Given the description of an element on the screen output the (x, y) to click on. 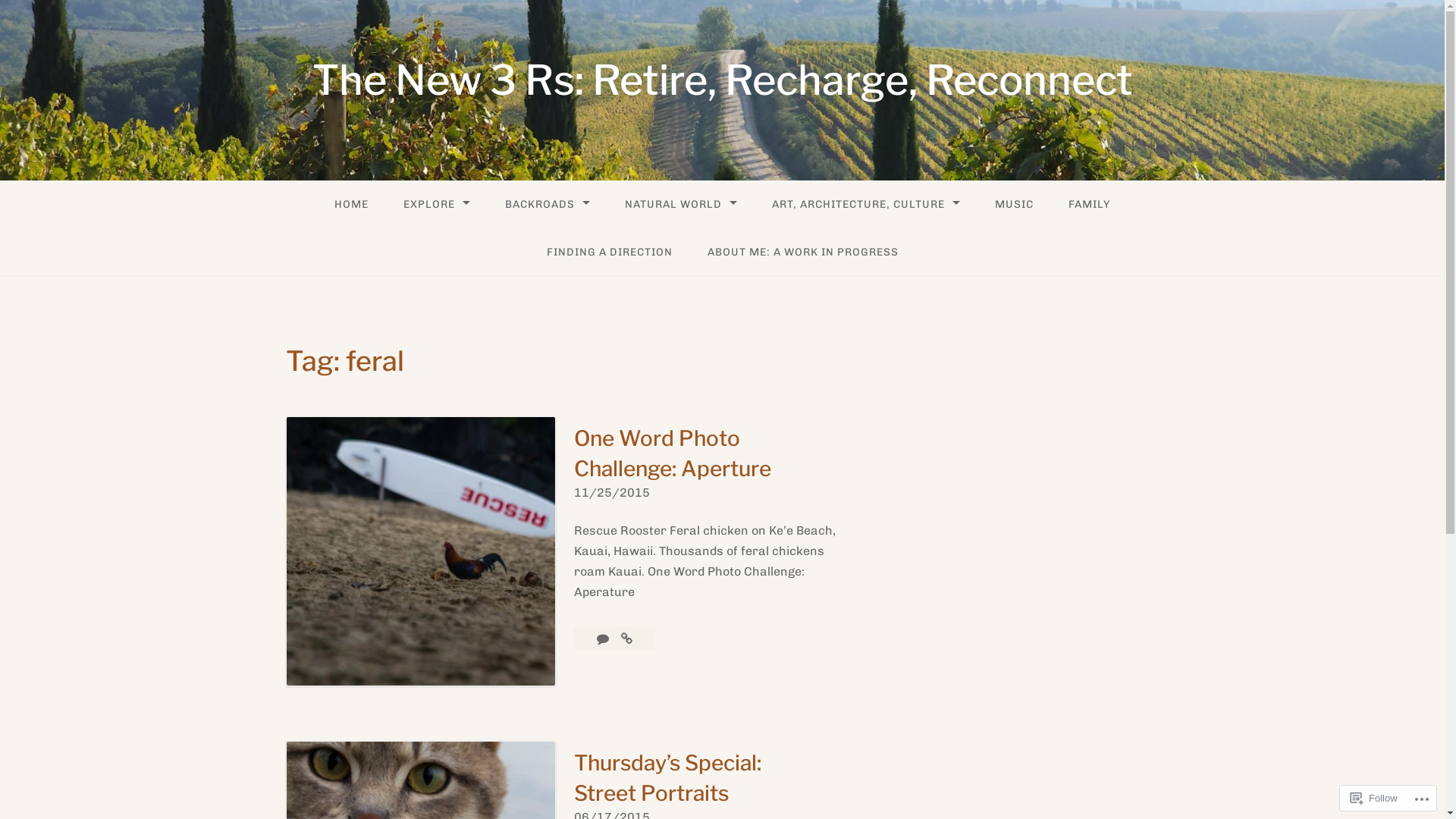
ABOUT ME: A WORK IN PROGRESS Element type: text (802, 252)
ART, ARCHITECTURE, CULTURE Element type: text (865, 204)
Follow Element type: text (1373, 797)
HOME Element type: text (351, 204)
MUSIC Element type: text (1014, 204)
FINDING A DIRECTION Element type: text (609, 252)
EXPLORE Element type: text (436, 204)
The New 3 Rs: Retire, Recharge, Reconnect Element type: text (722, 79)
FAMILY Element type: text (1089, 204)
One Word Photo Challenge: Aperture Element type: text (671, 452)
NATURAL WORLD Element type: text (680, 204)
BACKROADS Element type: text (547, 204)
